Given the description of an element on the screen output the (x, y) to click on. 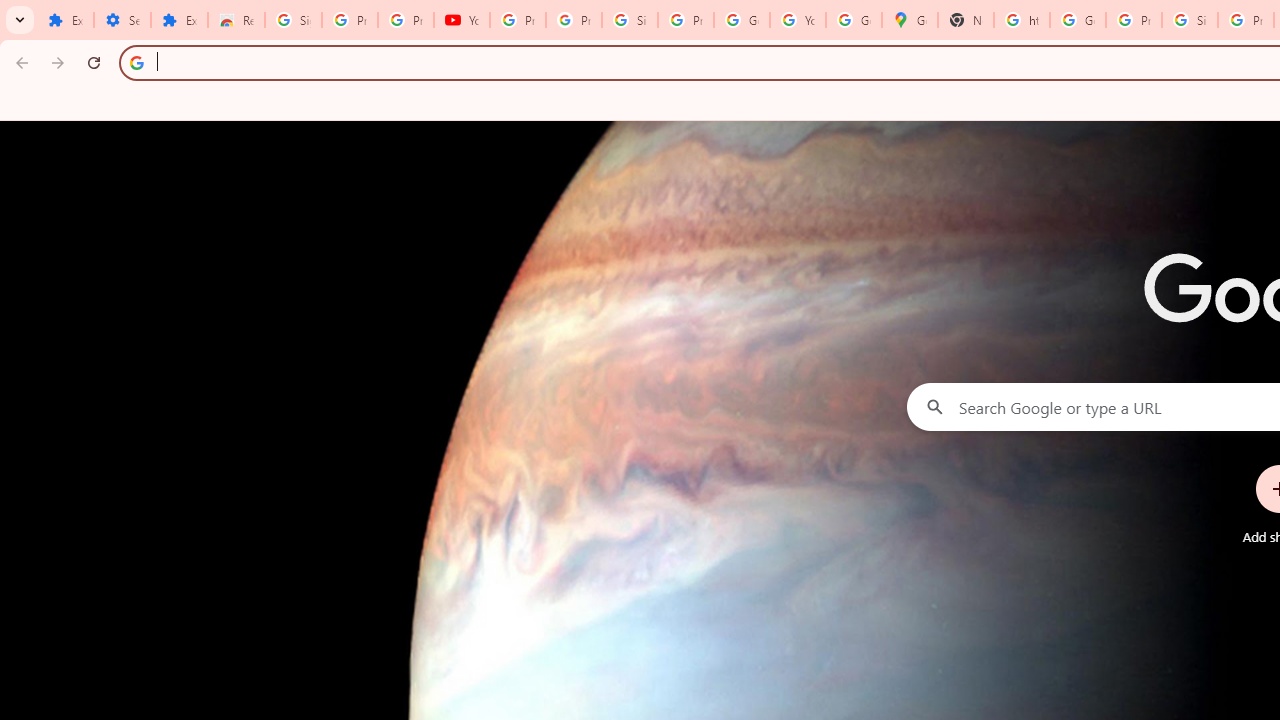
Extensions (65, 20)
Extensions (179, 20)
Google Account (742, 20)
YouTube (461, 20)
